Given the description of an element on the screen output the (x, y) to click on. 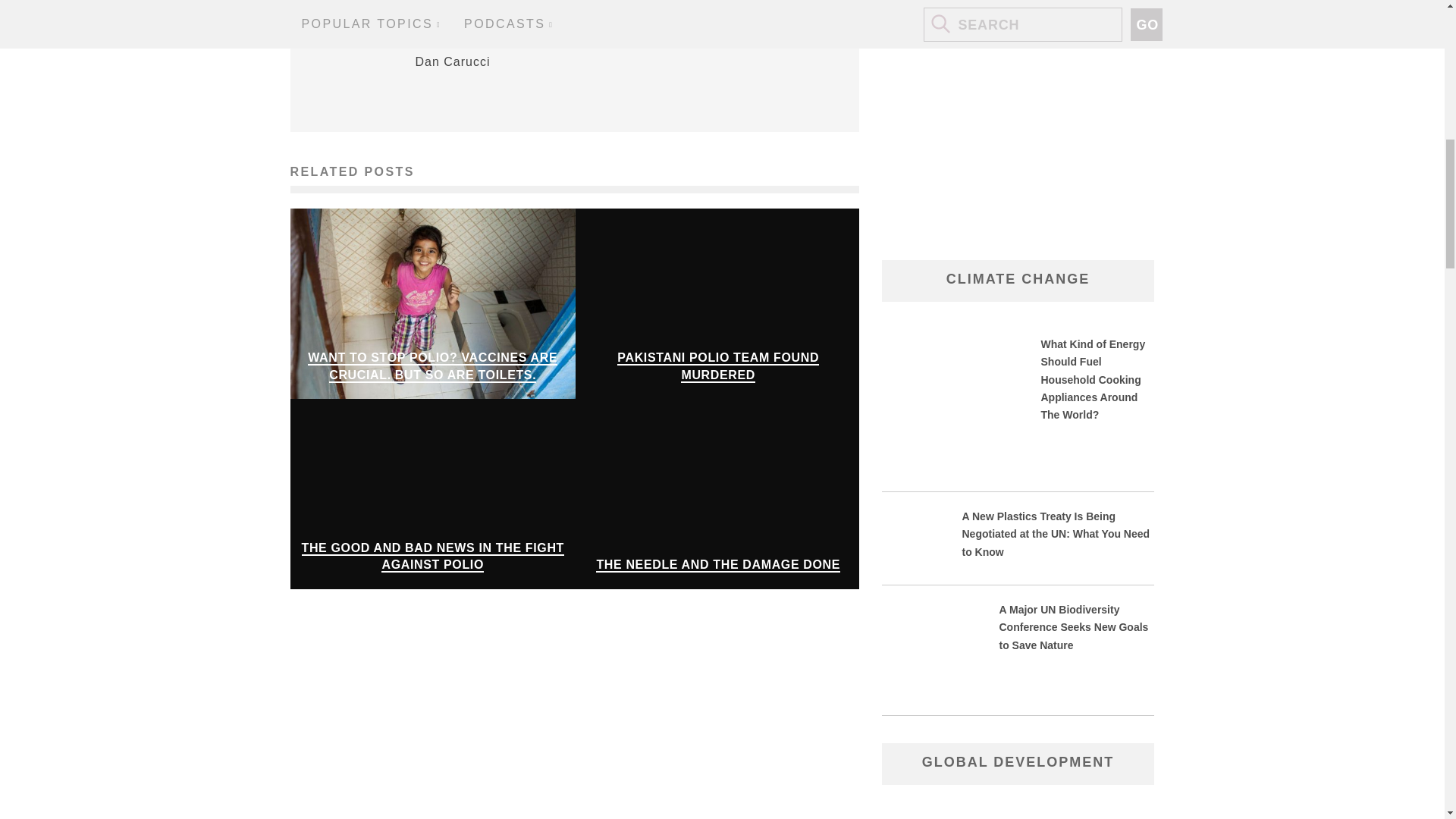
PAKISTANI POLIO TEAM FOUND MURDERED (717, 366)
Dan Carucci (452, 61)
